Given the description of an element on the screen output the (x, y) to click on. 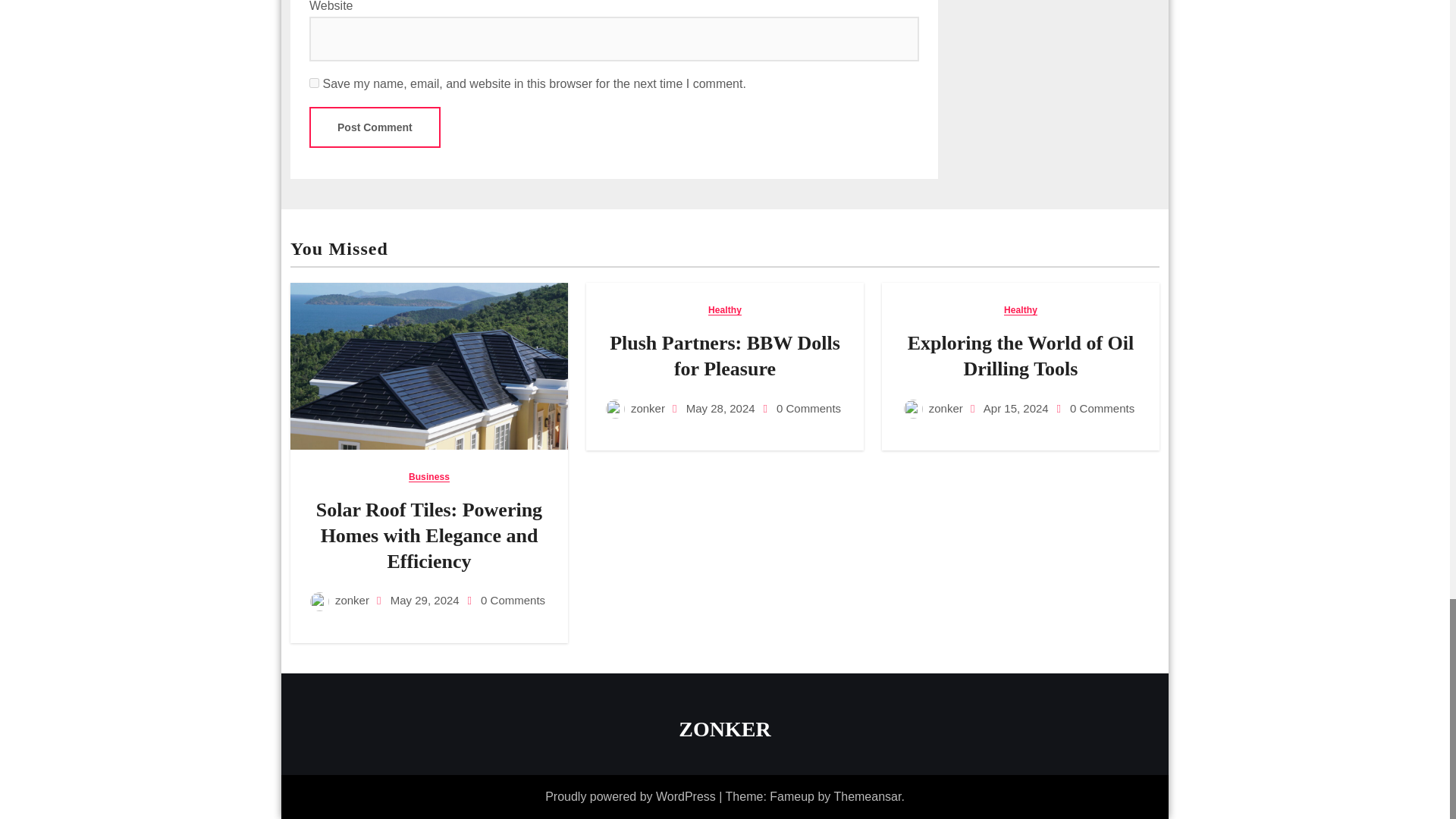
yes (313, 82)
Post Comment (374, 127)
Permalink to: Plush Partners: BBW Dolls for Pleasure (725, 356)
Permalink to: Exploring the World of Oil Drilling Tools (1020, 356)
